Given the description of an element on the screen output the (x, y) to click on. 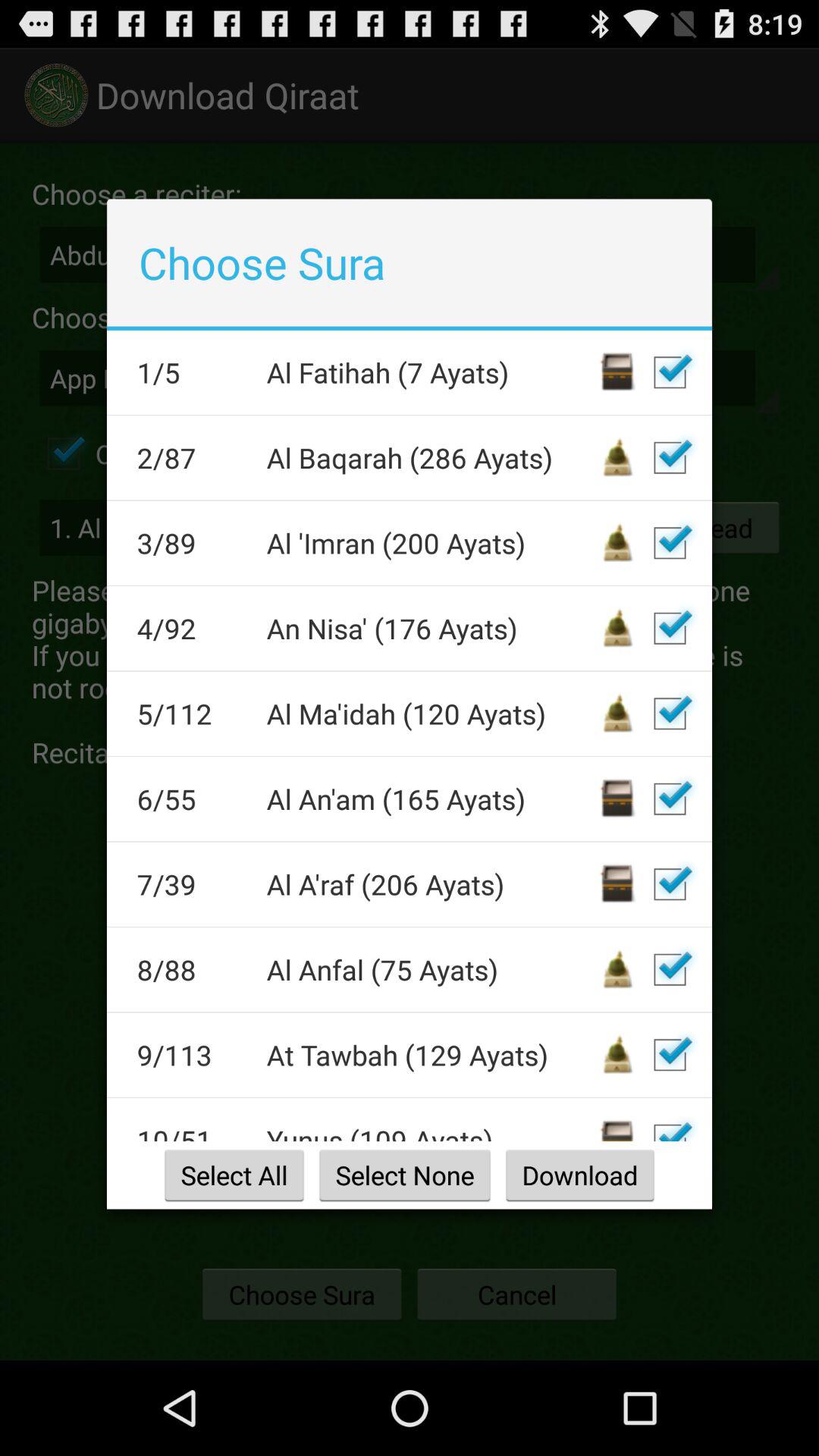
swipe to the 4/92 icon (191, 628)
